Given the description of an element on the screen output the (x, y) to click on. 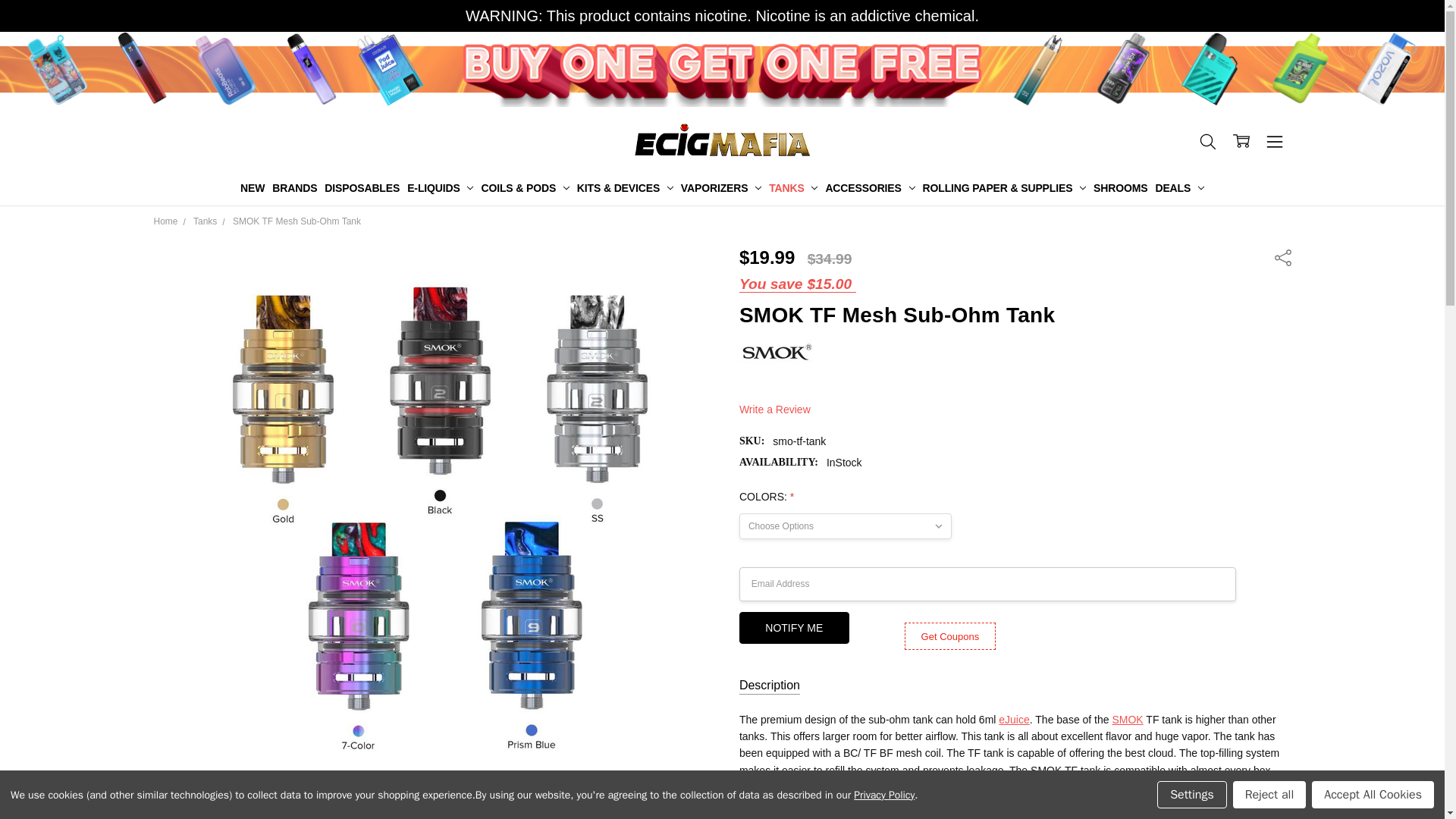
NEW (251, 188)
Customer reviews powered by Trustpilot (1015, 387)
SMOK TF Mesh Sub-Ohm Tank (462, 813)
ECigMafia (721, 140)
DISPOSABLES (361, 188)
SMOK TF Mesh Sub-Ohm Tank (384, 813)
BRANDS (293, 188)
Notify Me (793, 627)
SMOK TF Mesh Sub-Ohm Tank (224, 813)
SMOK TF Mesh Sub-Ohm Tank (302, 813)
E-LIQUIDS (440, 188)
Show All (733, 188)
SMOK TF Mesh Sub-Ohm Tank (542, 813)
